Given the description of an element on the screen output the (x, y) to click on. 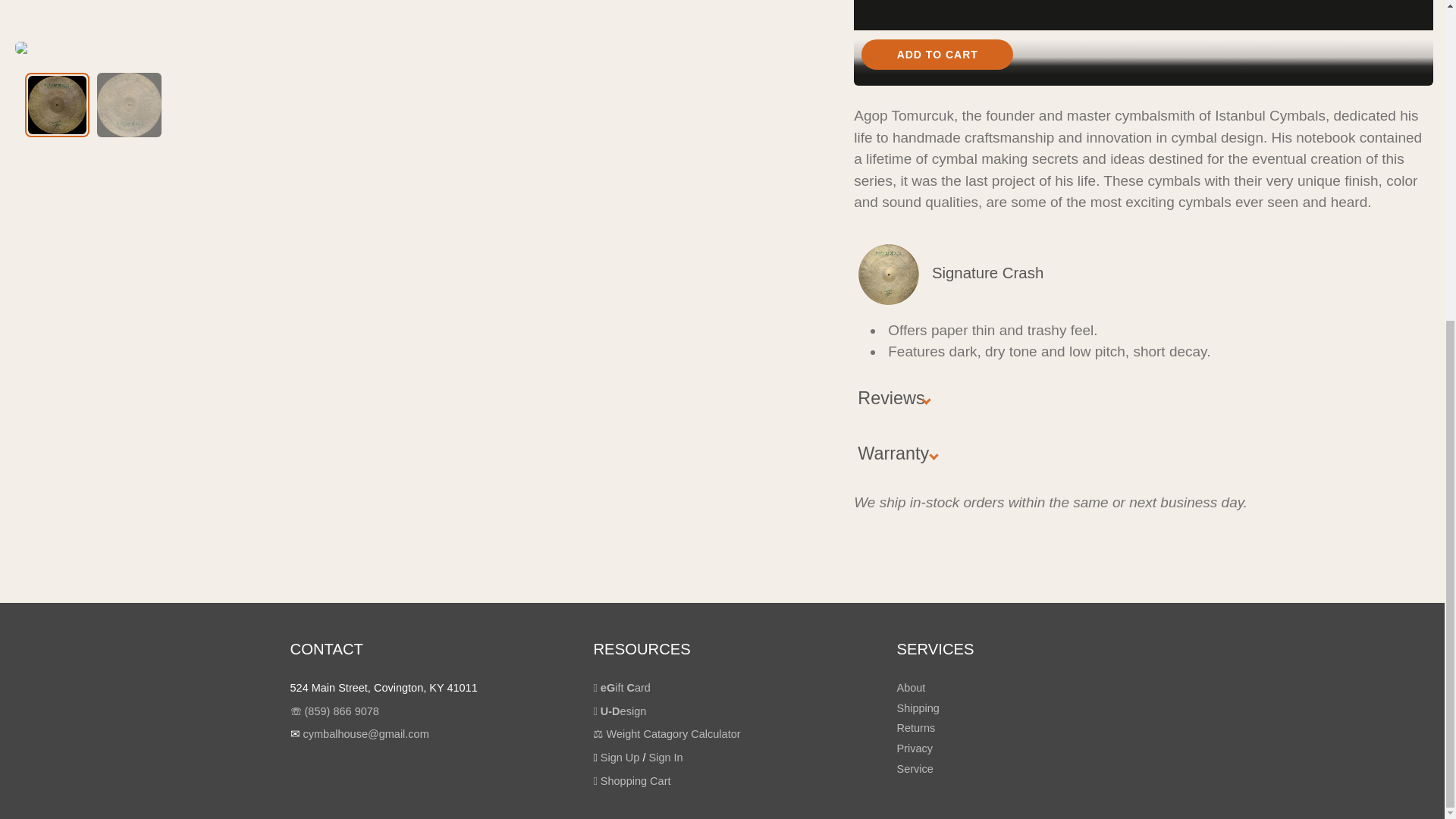
Shopping Cart (630, 780)
Sign In (665, 757)
Cymbal Weight Category Calculator (665, 734)
YouTube video player (1142, 43)
Cymbal House eGift Card (620, 687)
Sign Up (619, 757)
U-Design (619, 711)
tel:8598669078 (341, 711)
